Given the description of an element on the screen output the (x, y) to click on. 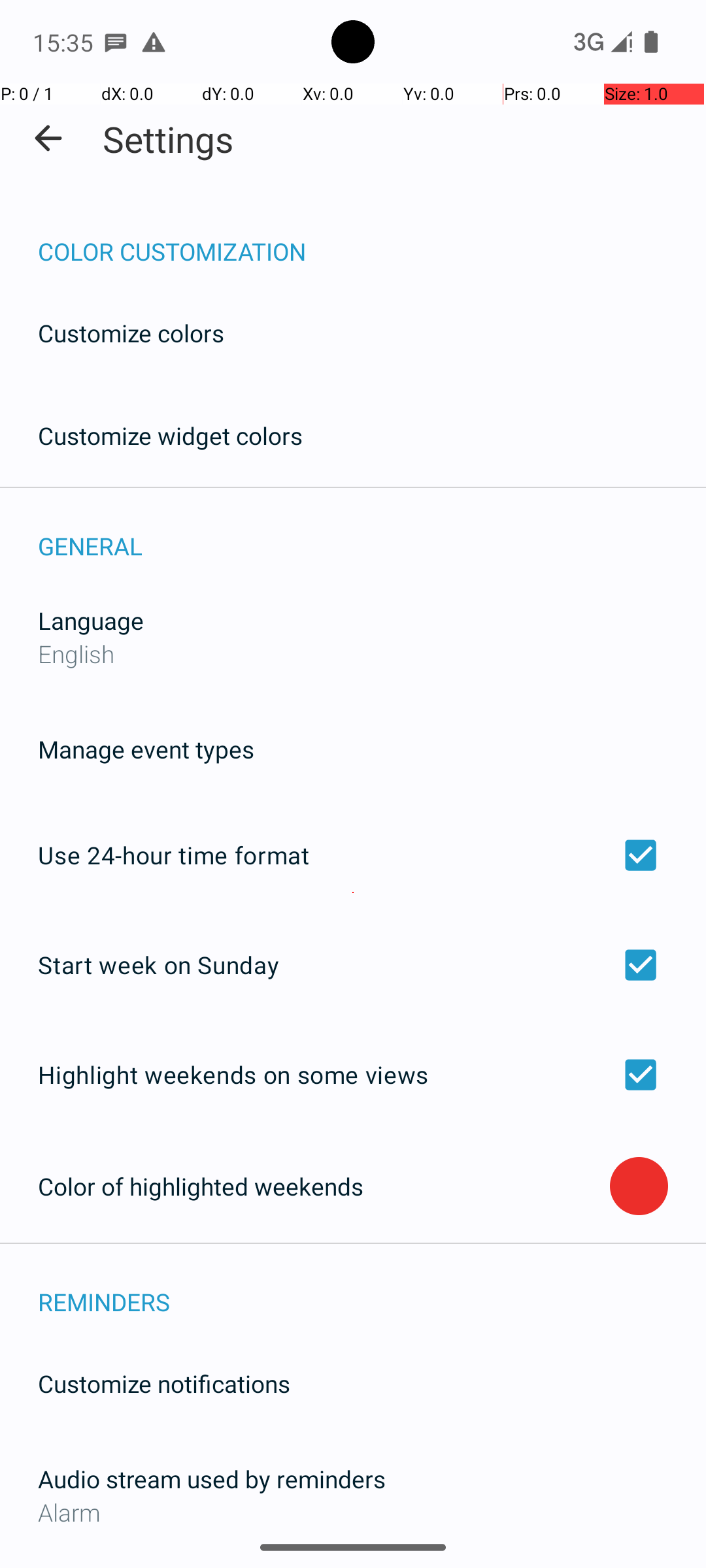
Color of highlighted weekends Element type: android.widget.TextView (323, 1186)
